Given the description of an element on the screen output the (x, y) to click on. 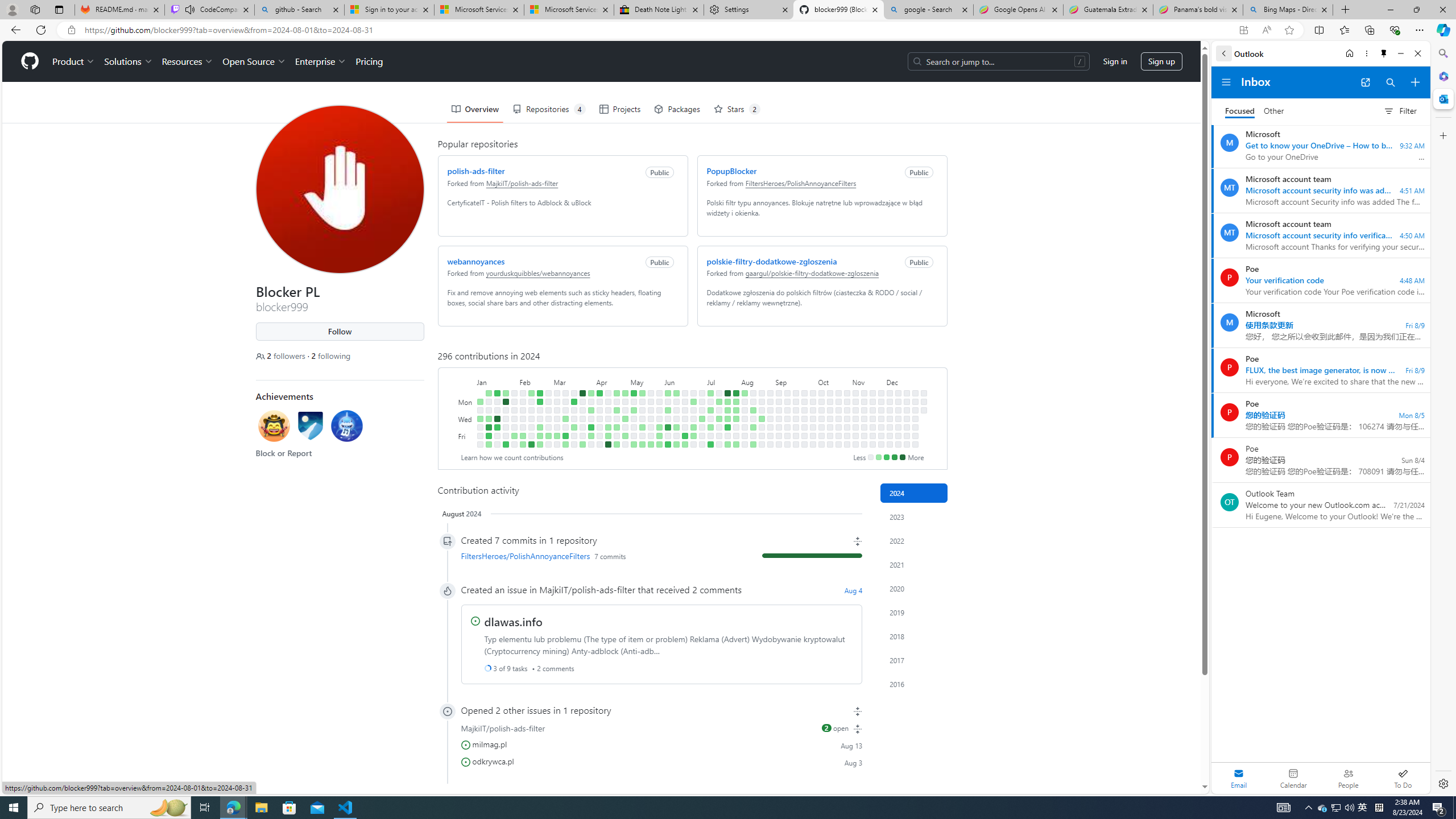
Open in new tab (1365, 82)
November (867, 380)
2 contributions on July 22nd. (726, 401)
7 contributions on June 6th. (667, 427)
Overview (474, 108)
No contributions on September 16th. (795, 401)
No contributions on March 9th. (556, 444)
3 contributions on June 27th. (693, 427)
1 contribution on May 18th. (642, 444)
Packages (676, 108)
No contributions on December 3rd. (889, 410)
No contributions on September 11th. (786, 418)
